Given the description of an element on the screen output the (x, y) to click on. 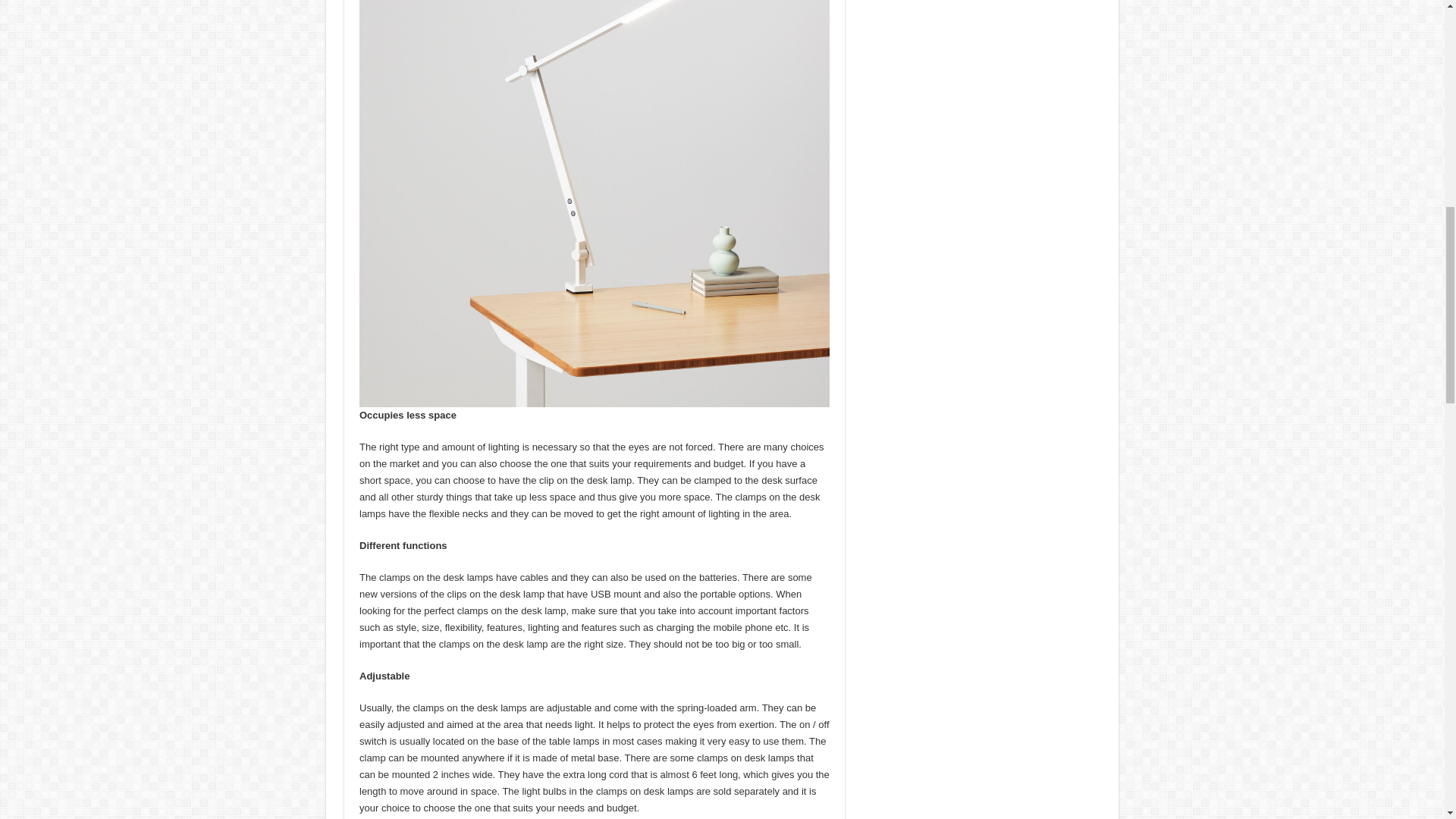
Scroll To Top (1421, 60)
